Given the description of an element on the screen output the (x, y) to click on. 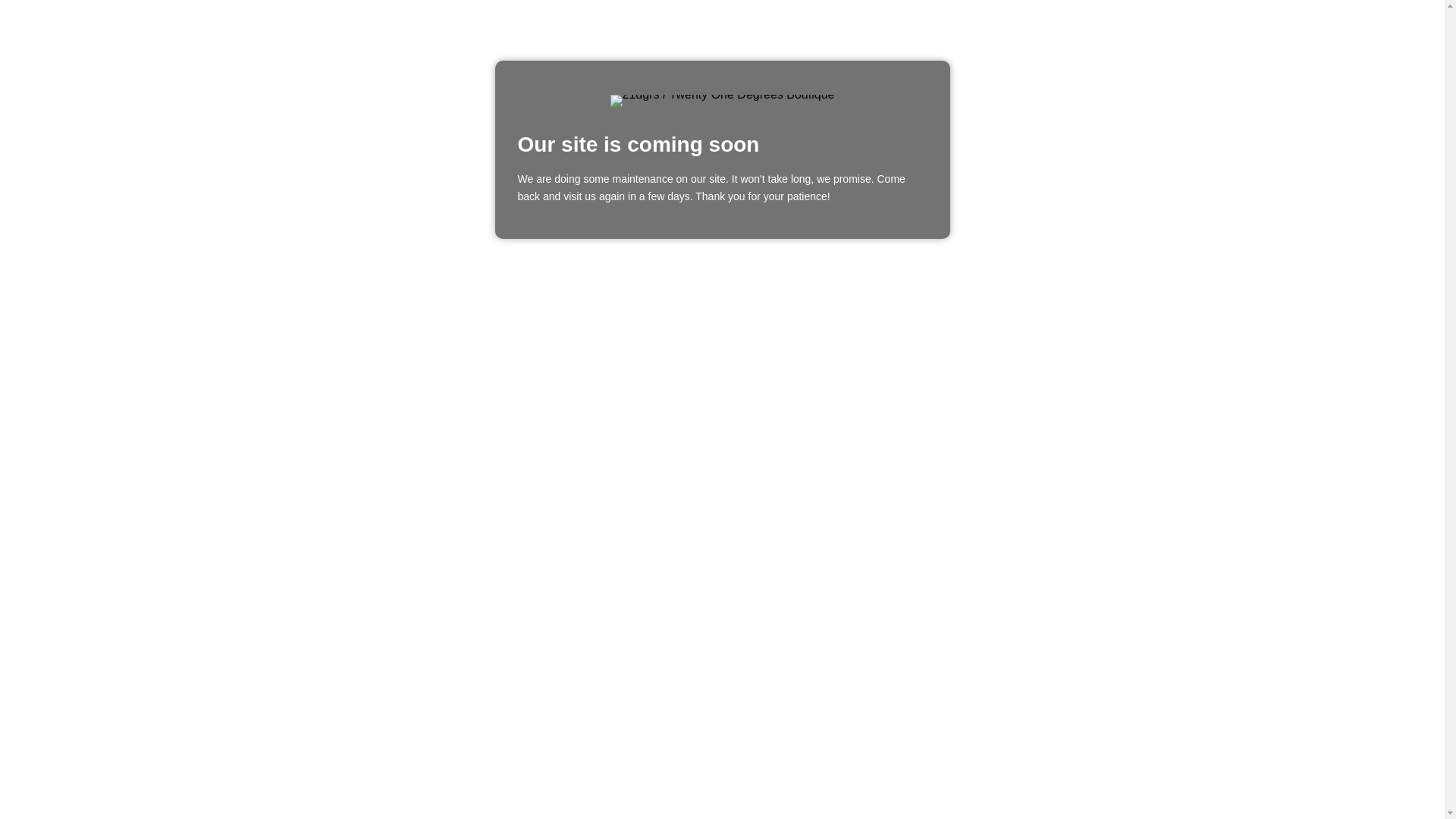
21dgrs / Twenty One Degrees Boutique Element type: hover (722, 100)
